Given the description of an element on the screen output the (x, y) to click on. 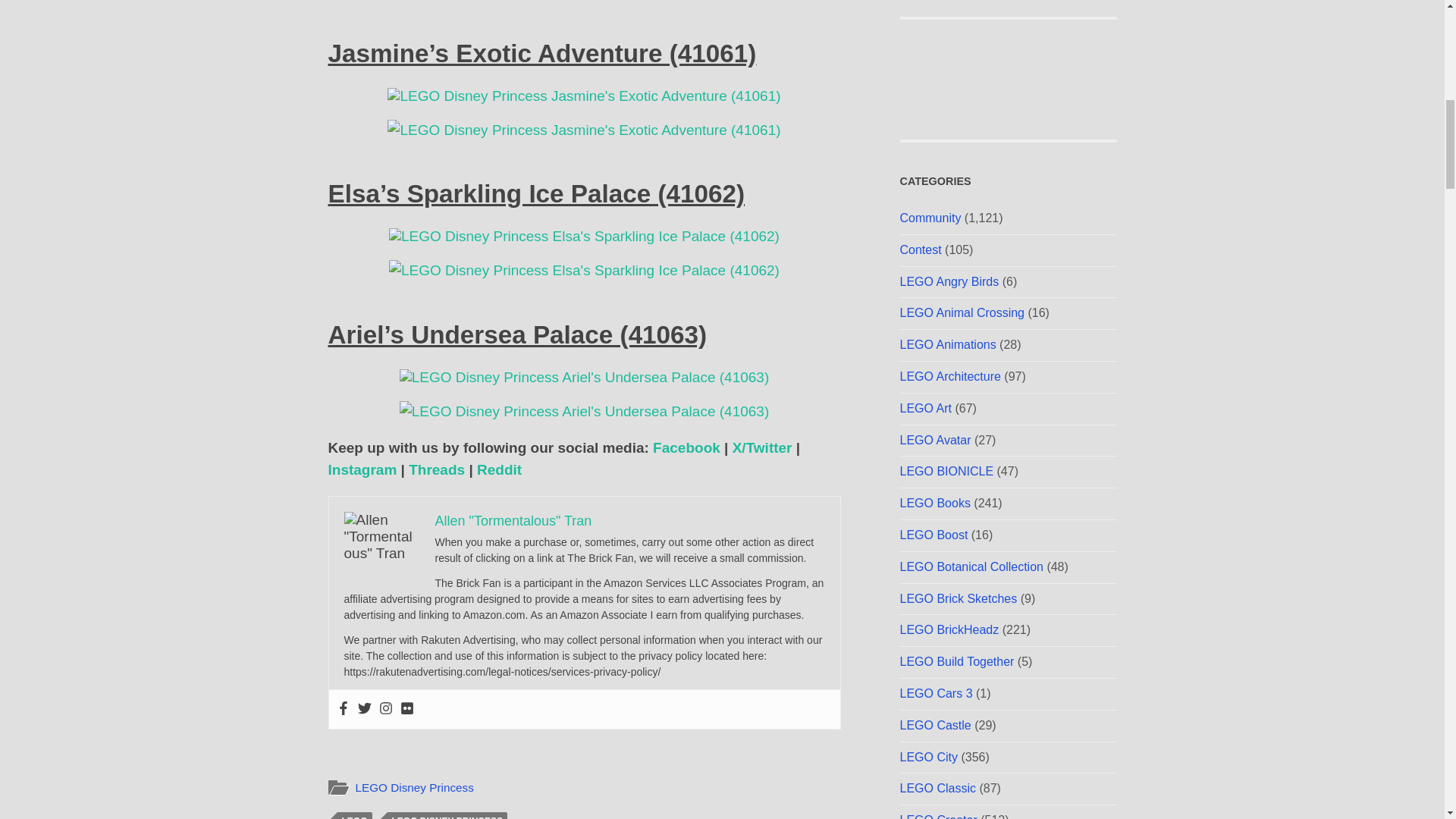
Instagram (361, 469)
Reddit (499, 469)
Facebook (686, 447)
Allen "Tormentalous" Tran (513, 520)
Threads (436, 469)
